Given the description of an element on the screen output the (x, y) to click on. 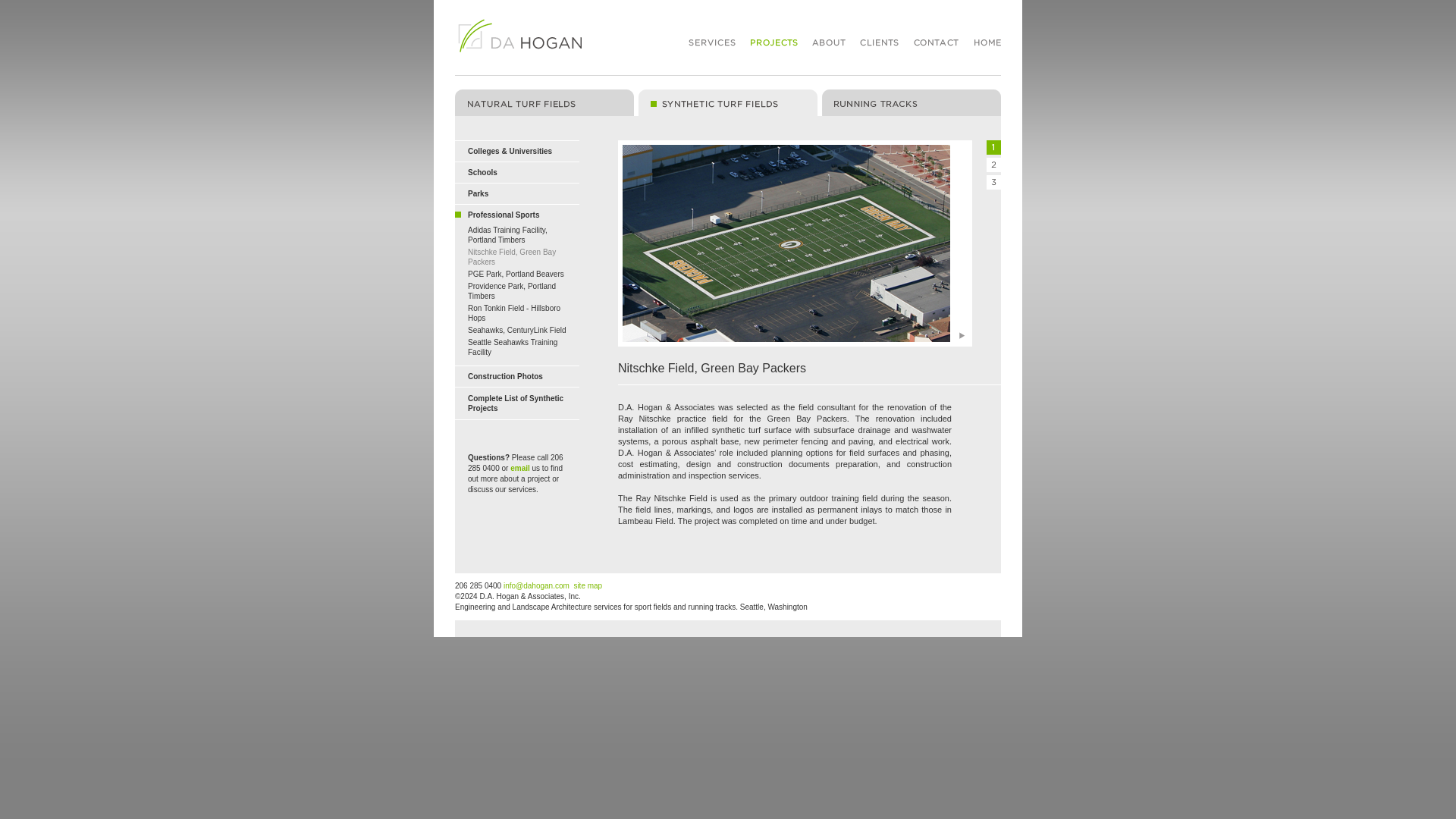
Parks (477, 193)
Providence Park, Portland Timbers (511, 290)
Ron Tonkin Field - Hillsboro Hops (513, 312)
Construction Photos (505, 376)
site map (587, 585)
Adidas Training Facility, Portland Timbers (507, 235)
Schools (482, 172)
Nitschke Field, Green Bay Packers (511, 257)
Professional Sports (502, 214)
Complete List of Synthetic Projects (515, 402)
